Given the description of an element on the screen output the (x, y) to click on. 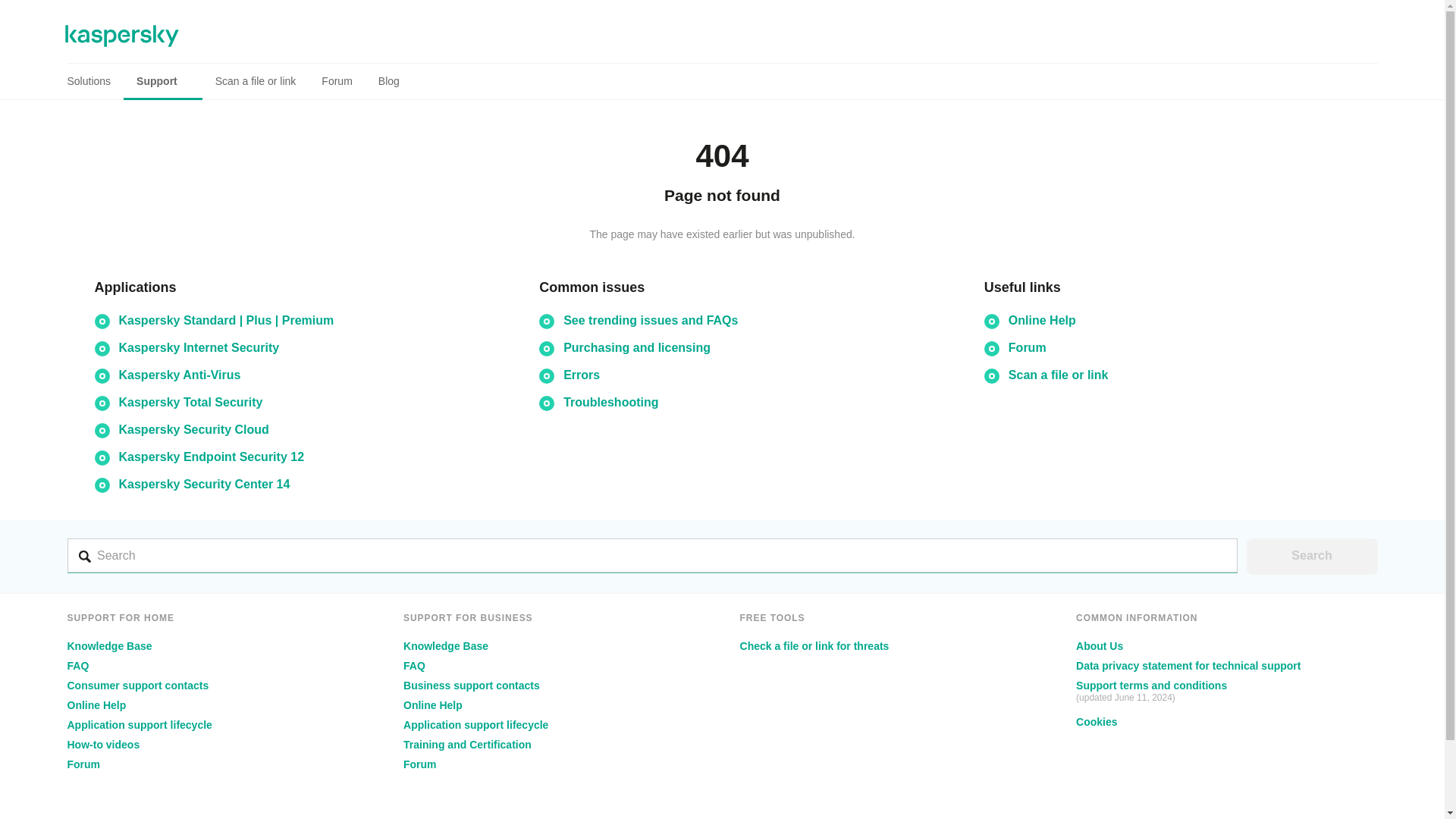
Kaspersky Security Cloud (192, 429)
Consumer support contacts (137, 685)
Blog (388, 81)
Online Help (95, 705)
Kaspersky Anti-Virus (178, 374)
Scan a file or link (1058, 374)
Online Help (1042, 319)
Errors (581, 374)
Kaspersky (122, 37)
Scan a file or link (255, 81)
Kaspersky Security Center 14 (203, 483)
Kaspersky Internet Security (198, 347)
Purchasing and licensing (636, 347)
Solutions (94, 81)
Forum (336, 81)
